Given the description of an element on the screen output the (x, y) to click on. 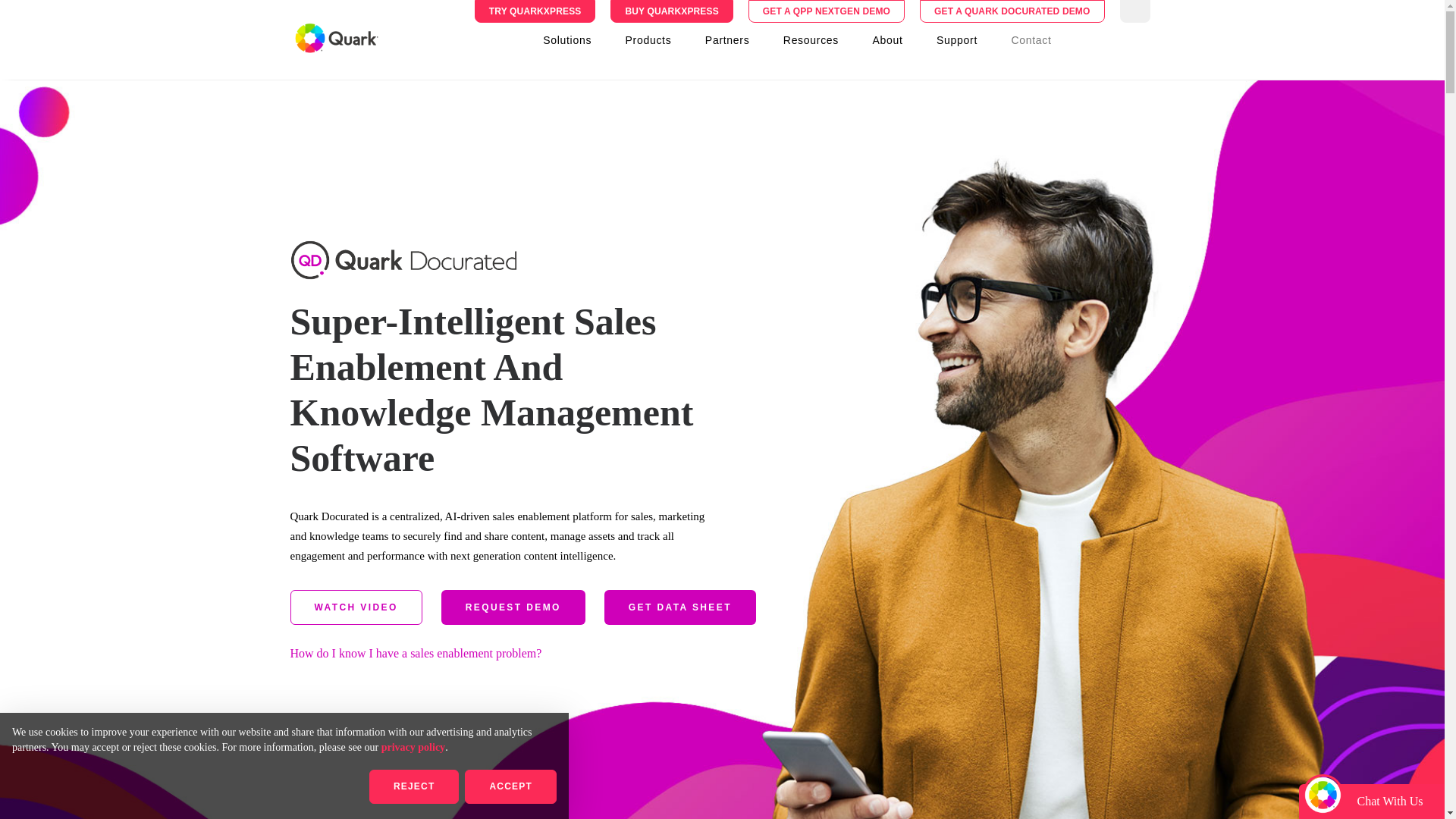
GET A QUARK DOCURATED DEMO (1011, 10)
GET A QPP NEXTGEN DEMO (825, 10)
Resources   (810, 40)
BUY QUARKXPRESS (671, 11)
TRY QUARKXPRESS (534, 11)
TRY QXP (534, 11)
